Given the description of an element on the screen output the (x, y) to click on. 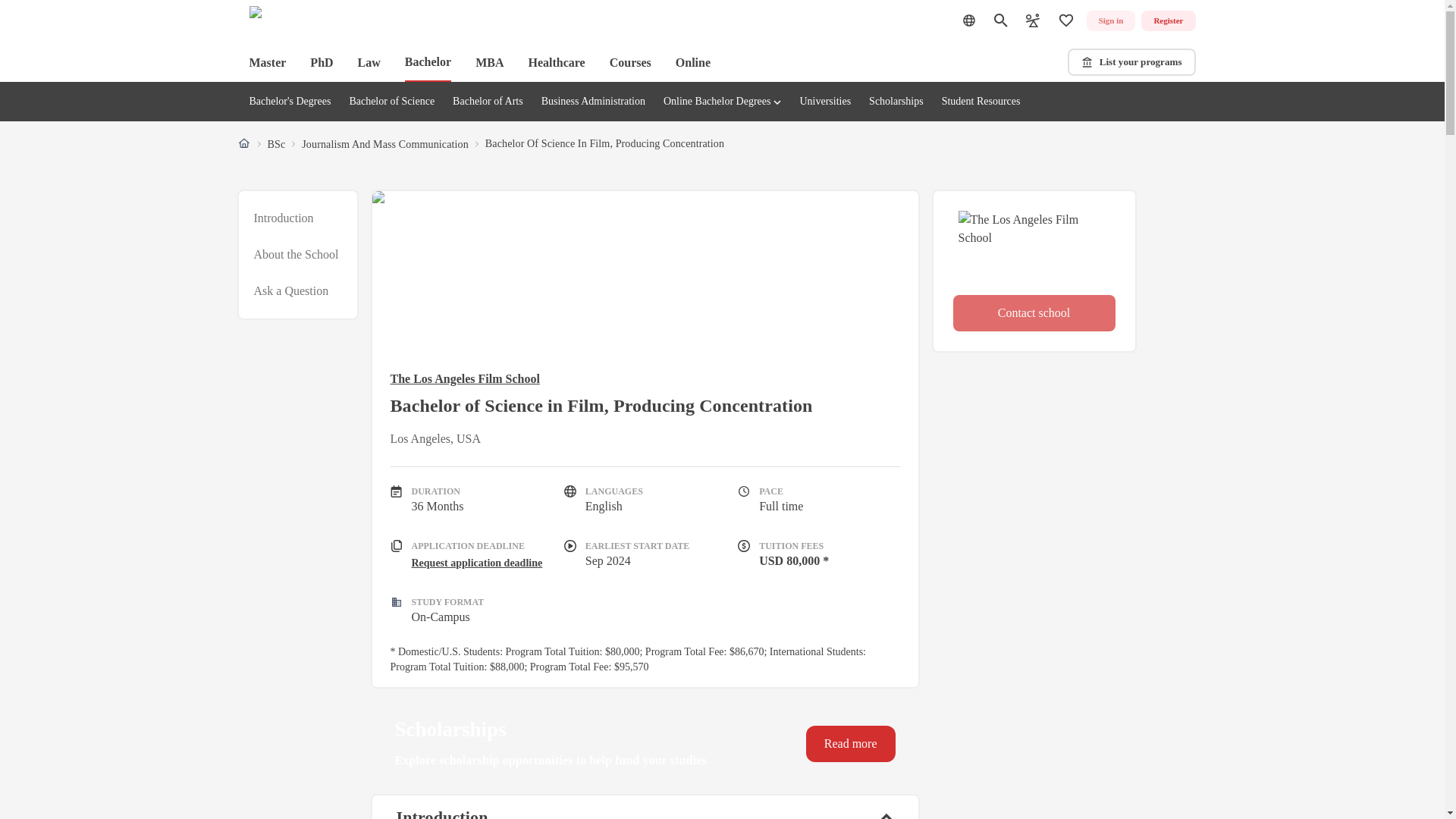
Bachelor's Degrees (289, 101)
Bachelor of Science (391, 101)
BSc (275, 144)
Contact school (1033, 312)
The Los Angeles Film School (644, 379)
Ask a Question (291, 290)
About the School (295, 254)
Register (1168, 20)
Bachelor of Arts (487, 101)
Healthcare (556, 63)
Student Resources (981, 101)
List your programs (1131, 62)
Introduction (283, 218)
Master (266, 63)
